Given the description of an element on the screen output the (x, y) to click on. 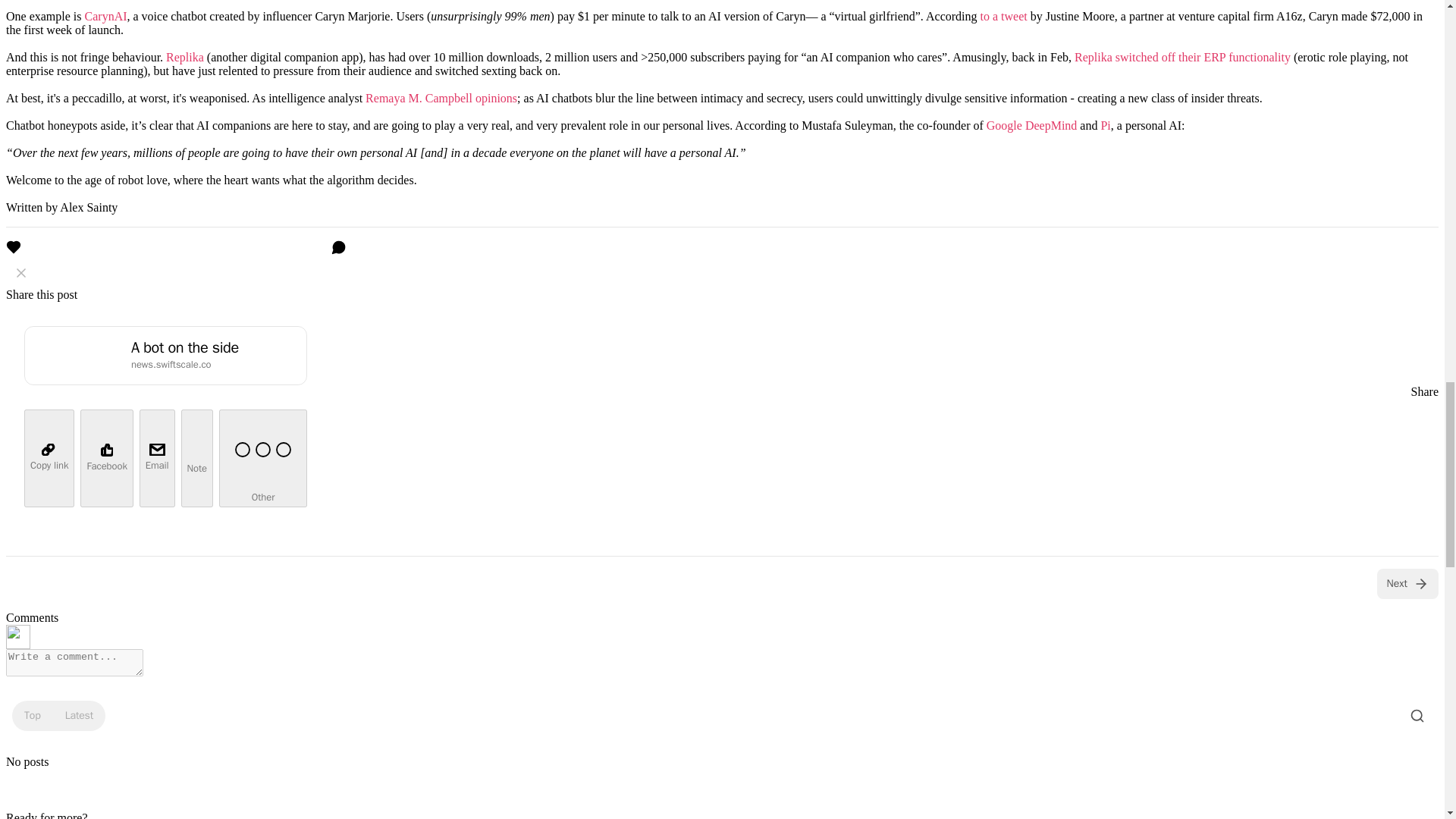
Google DeepMind (1032, 124)
CarynAI (106, 15)
Replika switched off their ERP functionality (1182, 56)
Replika (184, 56)
to a tweet (1003, 15)
Remaya M. Campbell opinions (440, 97)
